Given the description of an element on the screen output the (x, y) to click on. 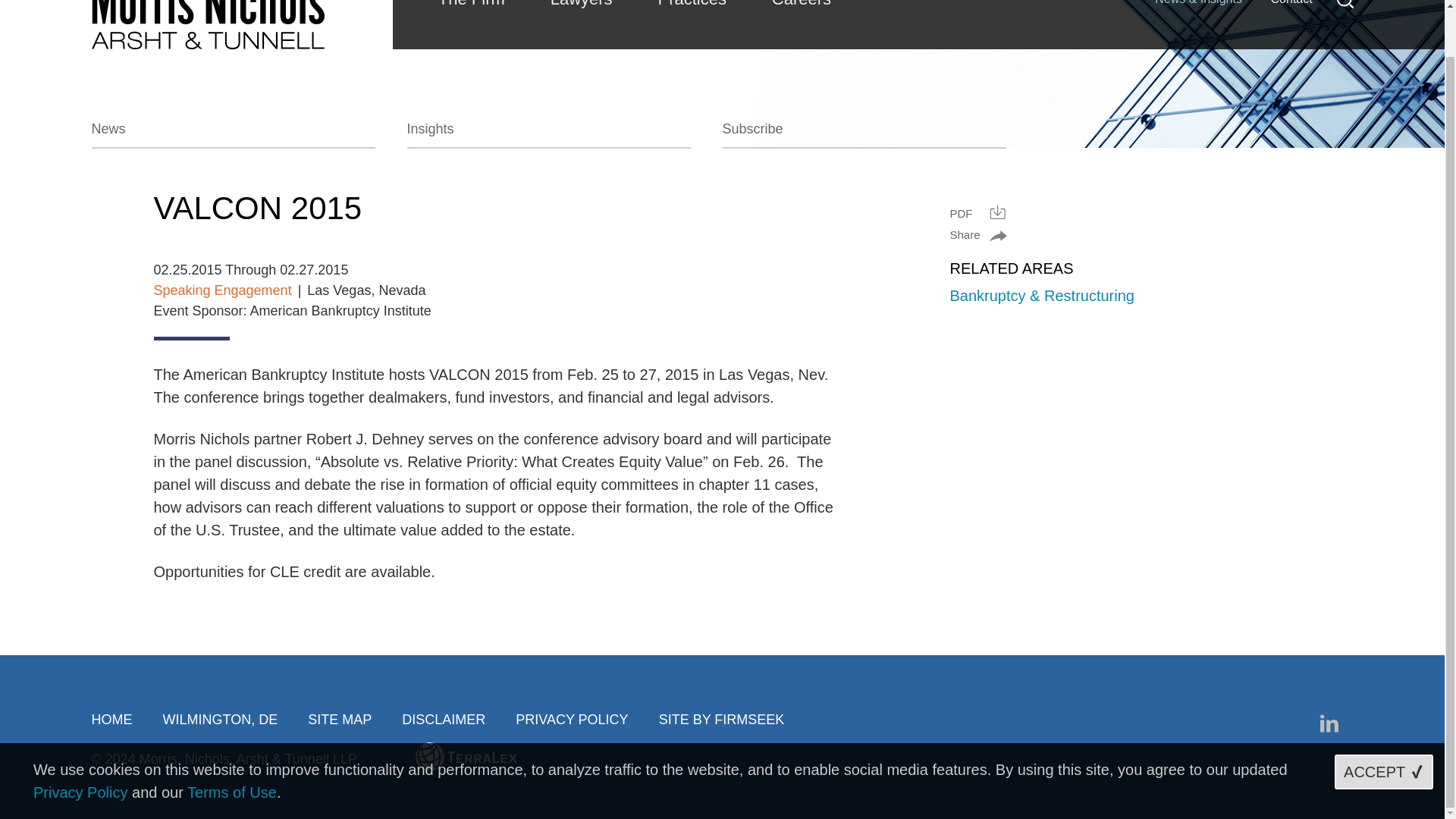
The Firm (470, 8)
Share (977, 234)
Practices (691, 8)
News (232, 133)
Insights (548, 133)
PDF (977, 212)
Careers (801, 8)
Share (977, 234)
Contact (1291, 6)
Lawyers (580, 8)
Subscribe (864, 133)
